Given the description of an element on the screen output the (x, y) to click on. 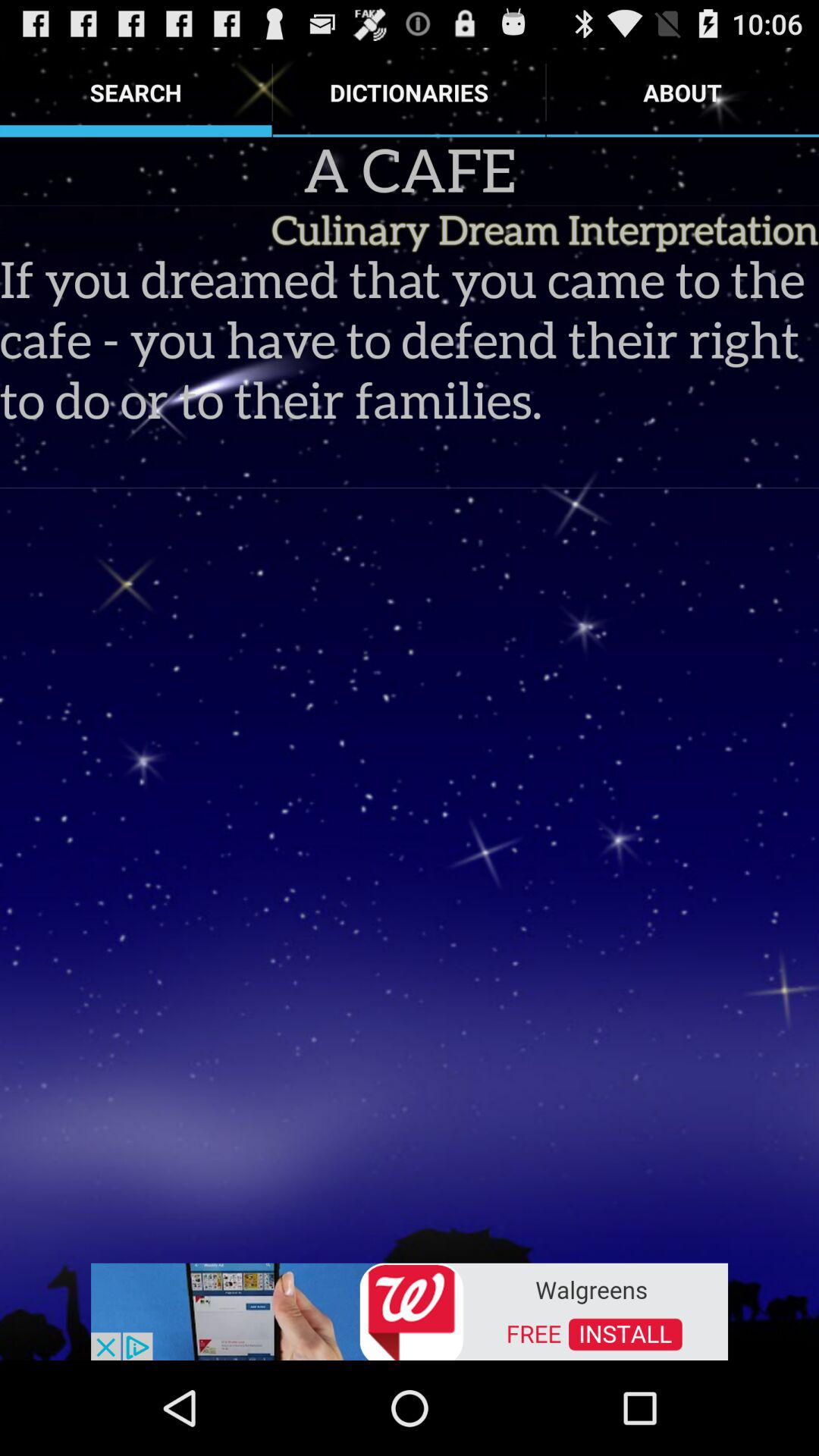
click advertisement (409, 1310)
